Given the description of an element on the screen output the (x, y) to click on. 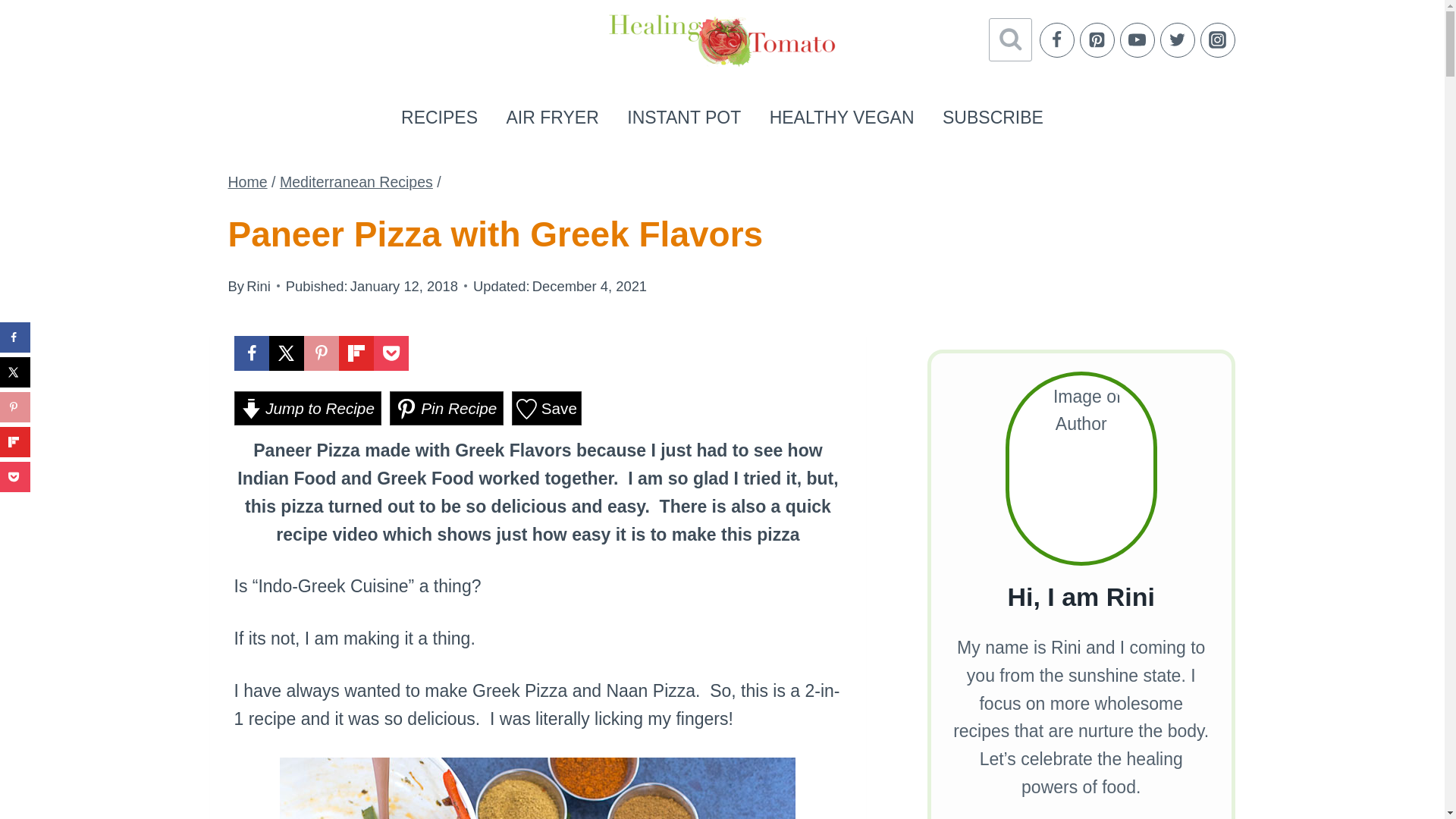
Pin Recipe (446, 408)
Save to Pinterest (319, 353)
INSTANT POT (683, 117)
Save (546, 408)
Share on Flipboard (354, 353)
Home (246, 181)
Share on Pocket (389, 353)
Jump to Recipe (306, 408)
Share on Facebook (249, 353)
HEALTHY VEGAN (841, 117)
